Given the description of an element on the screen output the (x, y) to click on. 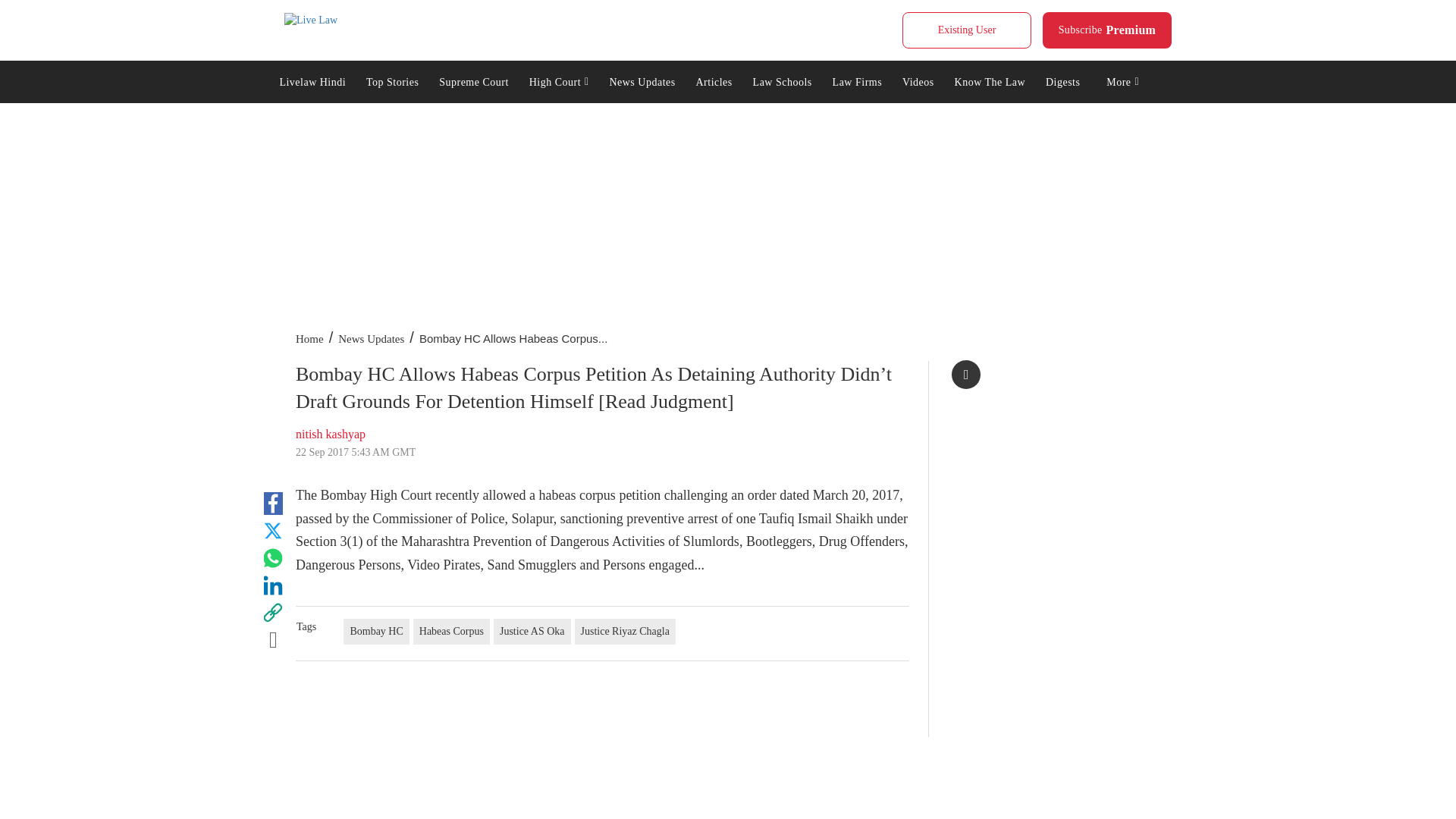
Live Law (310, 20)
Livelaw Hindi (312, 80)
Supreme Court (473, 80)
Existing User (966, 30)
Top Stories (392, 80)
High Court (1107, 30)
